Given the description of an element on the screen output the (x, y) to click on. 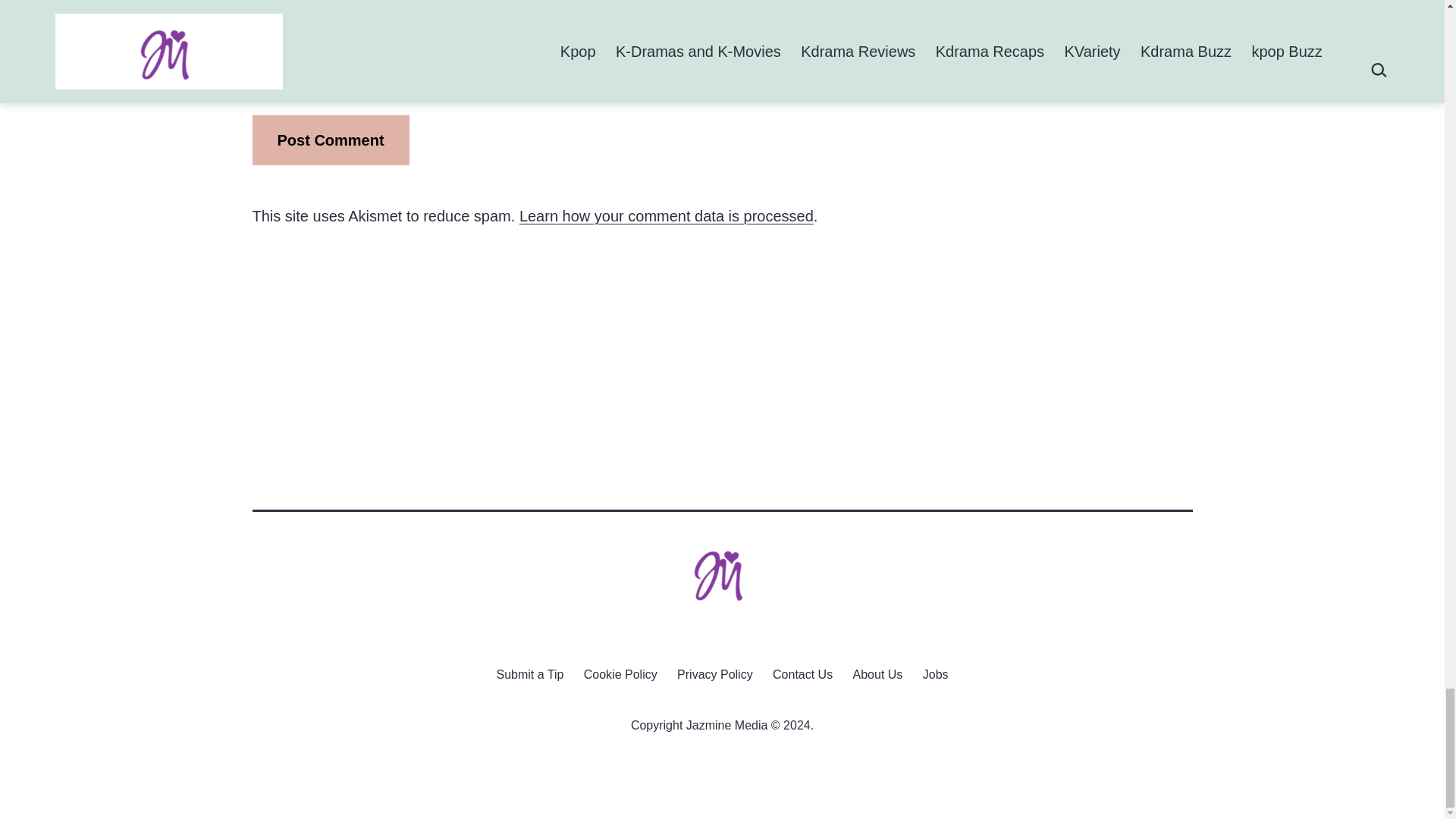
Learn how your comment data is processed (666, 216)
Post Comment (330, 140)
Post Comment (330, 140)
